Given the description of an element on the screen output the (x, y) to click on. 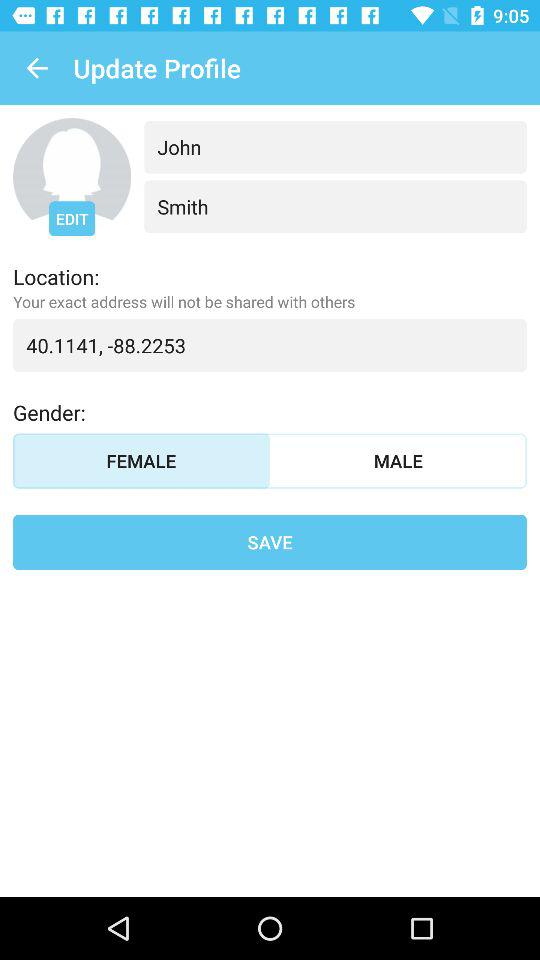
tap the icon next to update profile item (36, 68)
